Given the description of an element on the screen output the (x, y) to click on. 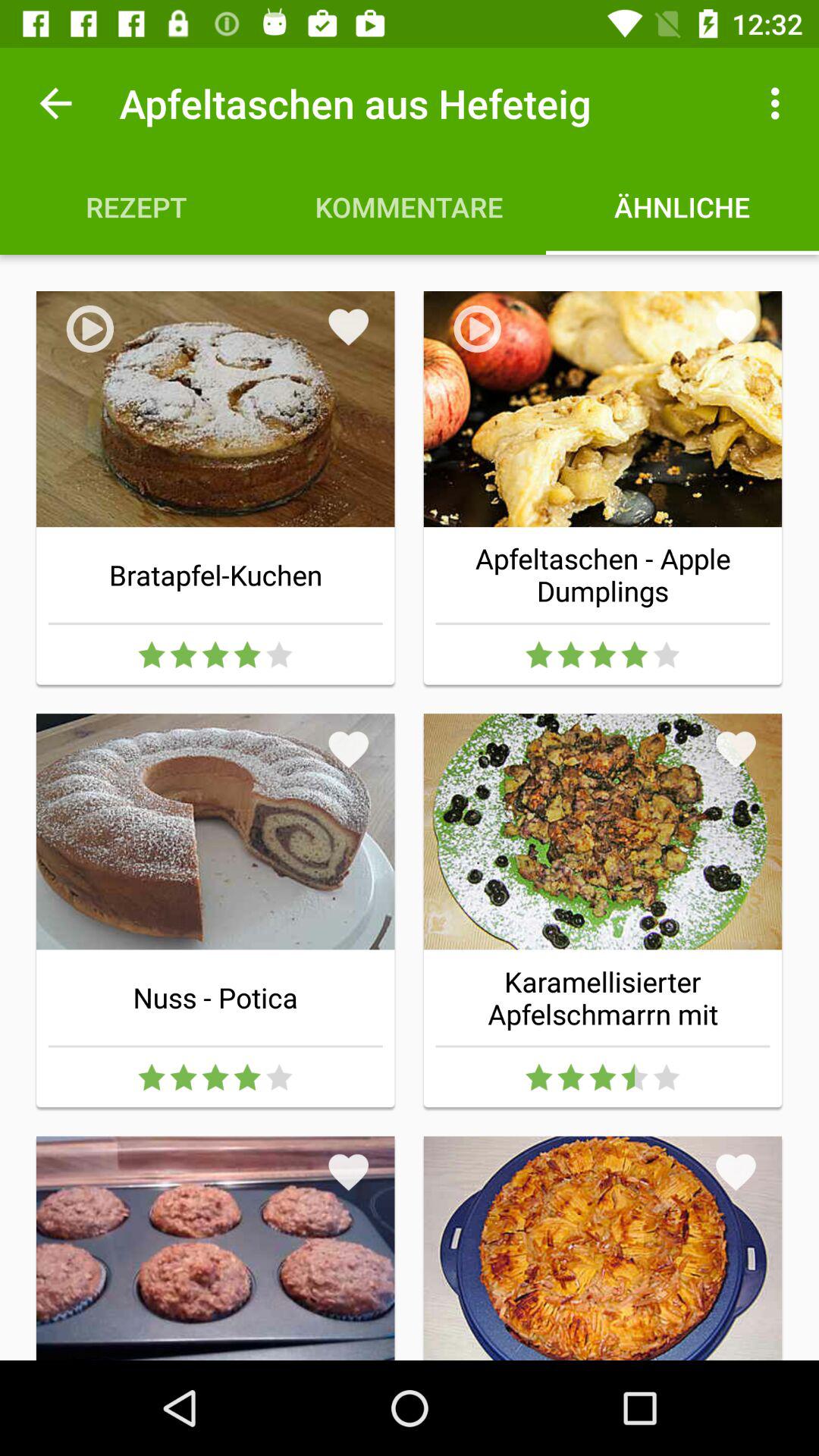
turn off the icon above rezept item (55, 103)
